Given the description of an element on the screen output the (x, y) to click on. 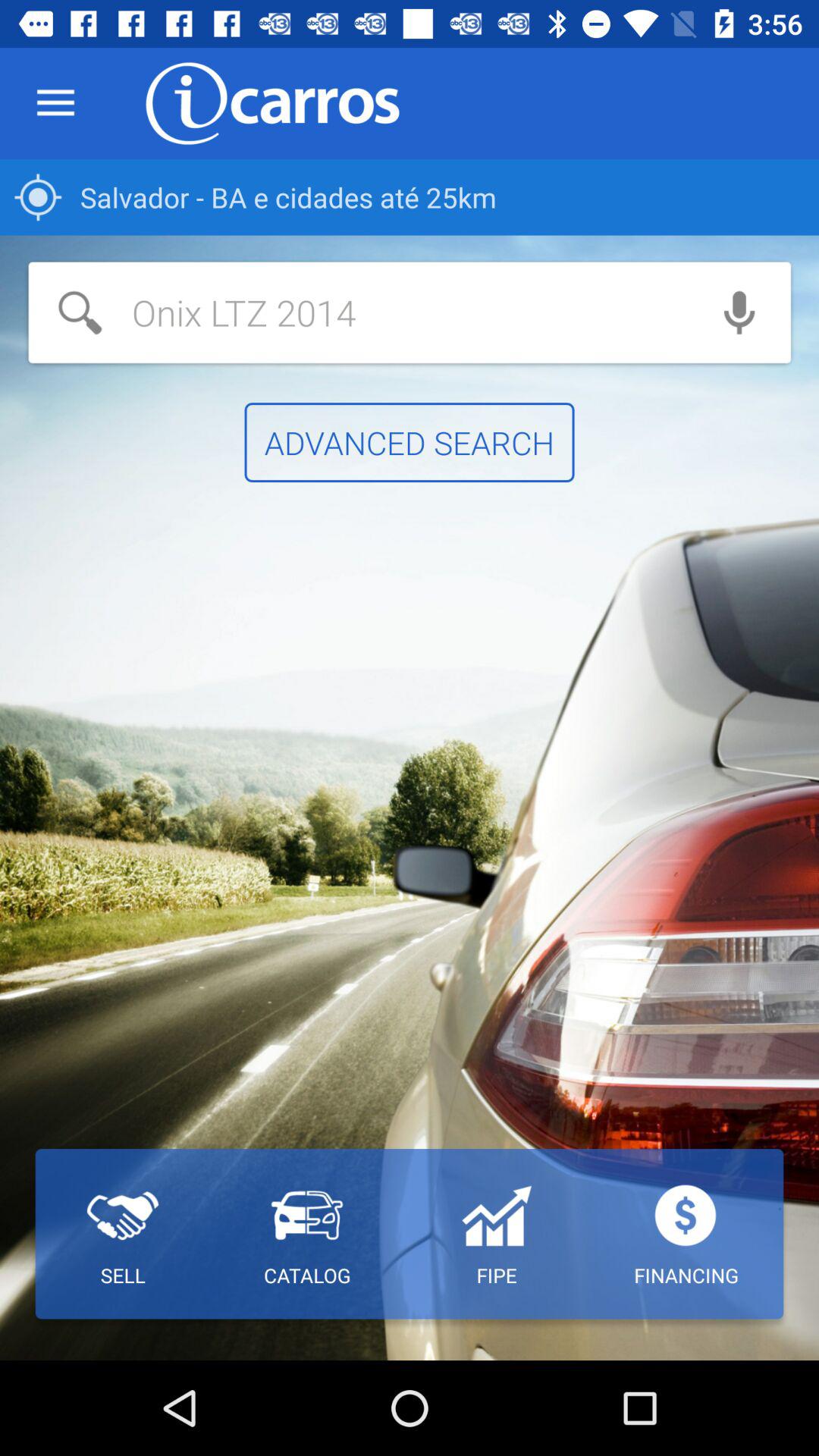
click the item above advanced search item (357, 312)
